Given the description of an element on the screen output the (x, y) to click on. 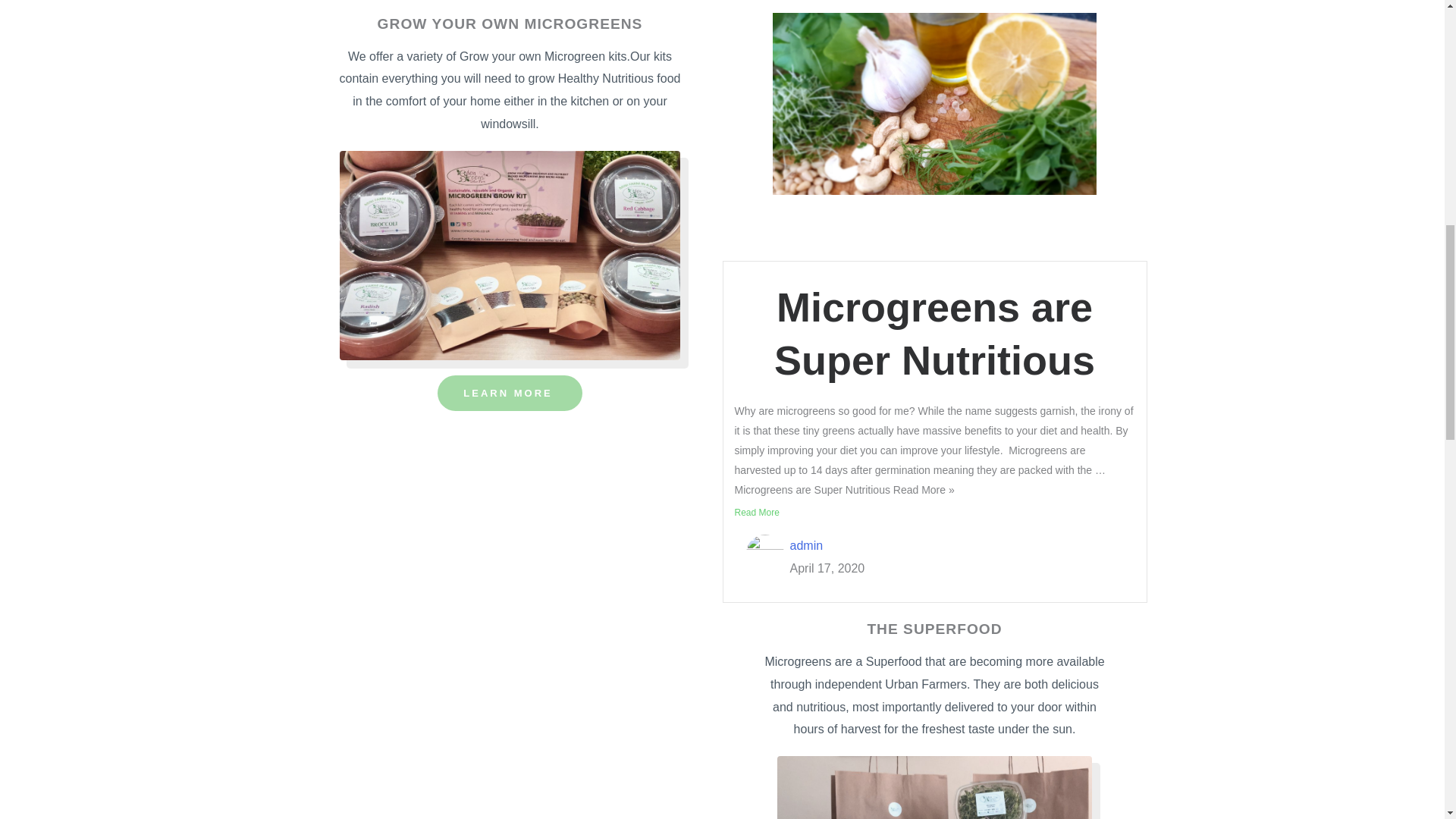
Read More (755, 512)
Posts by admin (807, 545)
admin (807, 545)
Microgreens are Super Nutritious (934, 333)
Microgreens are Super Nutritious (934, 333)
LEARN MORE (509, 393)
